Given the description of an element on the screen output the (x, y) to click on. 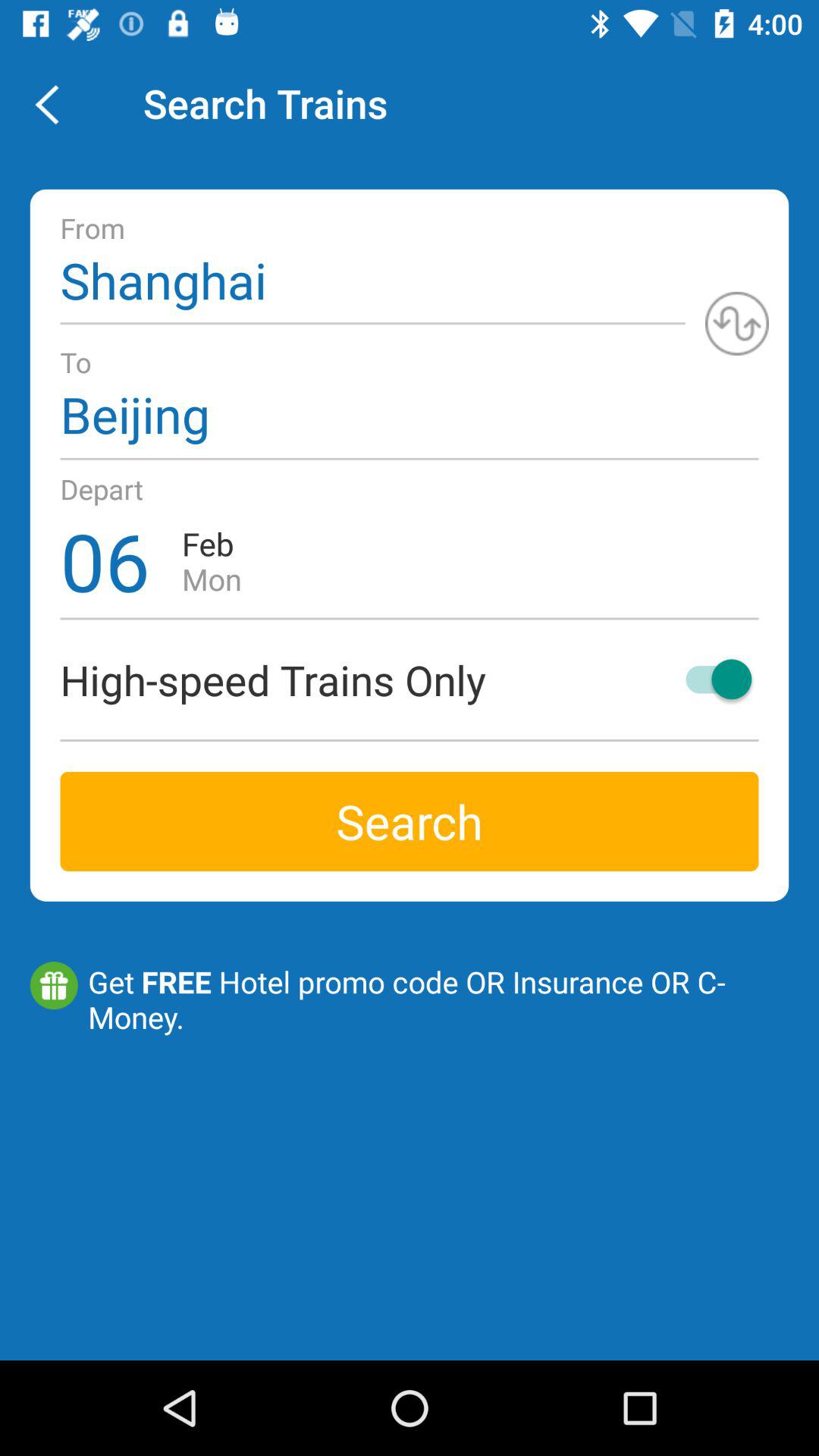
turn off icon on the right (711, 679)
